Given the description of an element on the screen output the (x, y) to click on. 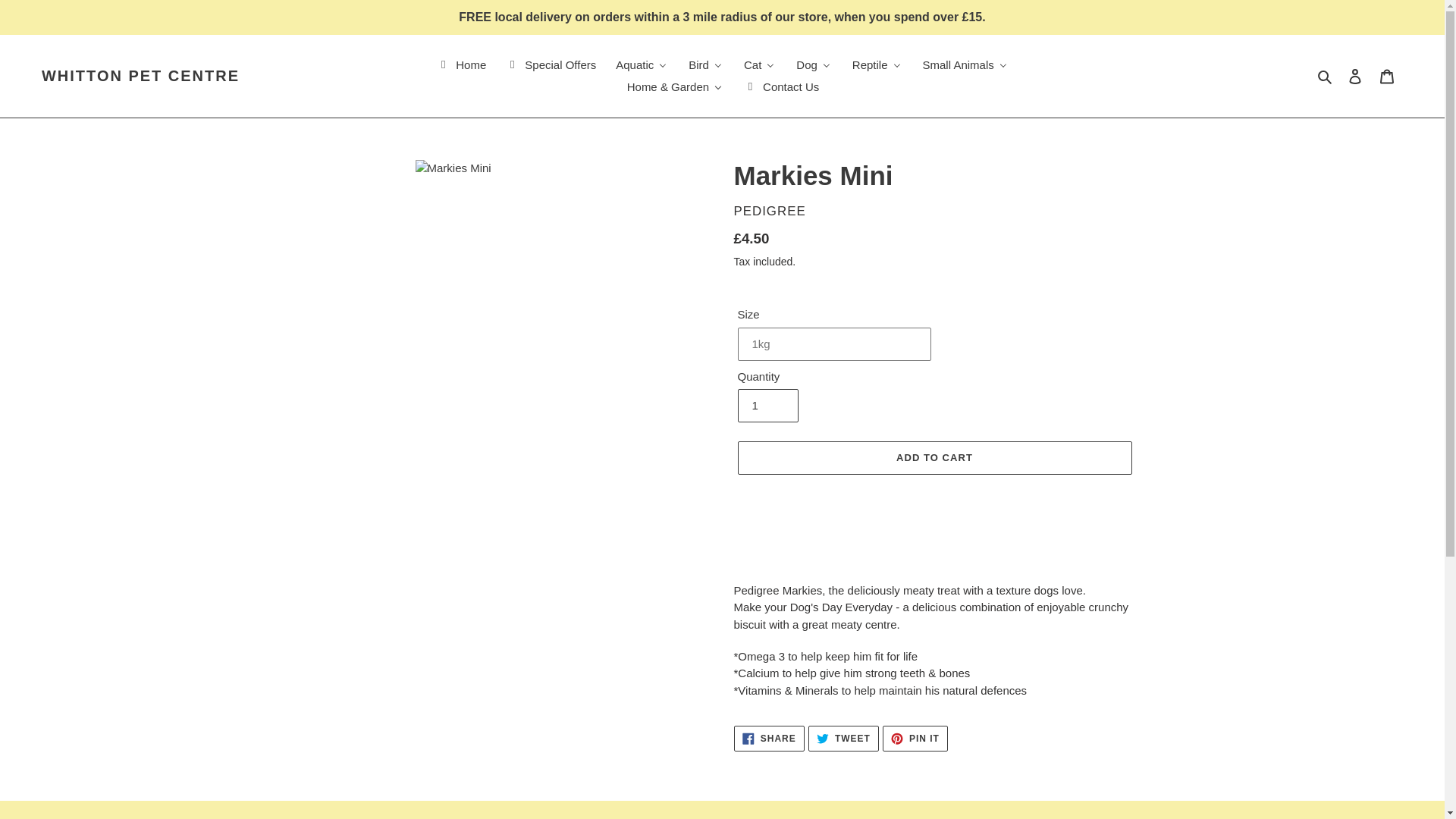
Special Offers (550, 65)
Home (460, 65)
WHITTON PET CENTRE (141, 75)
Aquatic (641, 65)
1 (766, 405)
Bird (705, 65)
